Given the description of an element on the screen output the (x, y) to click on. 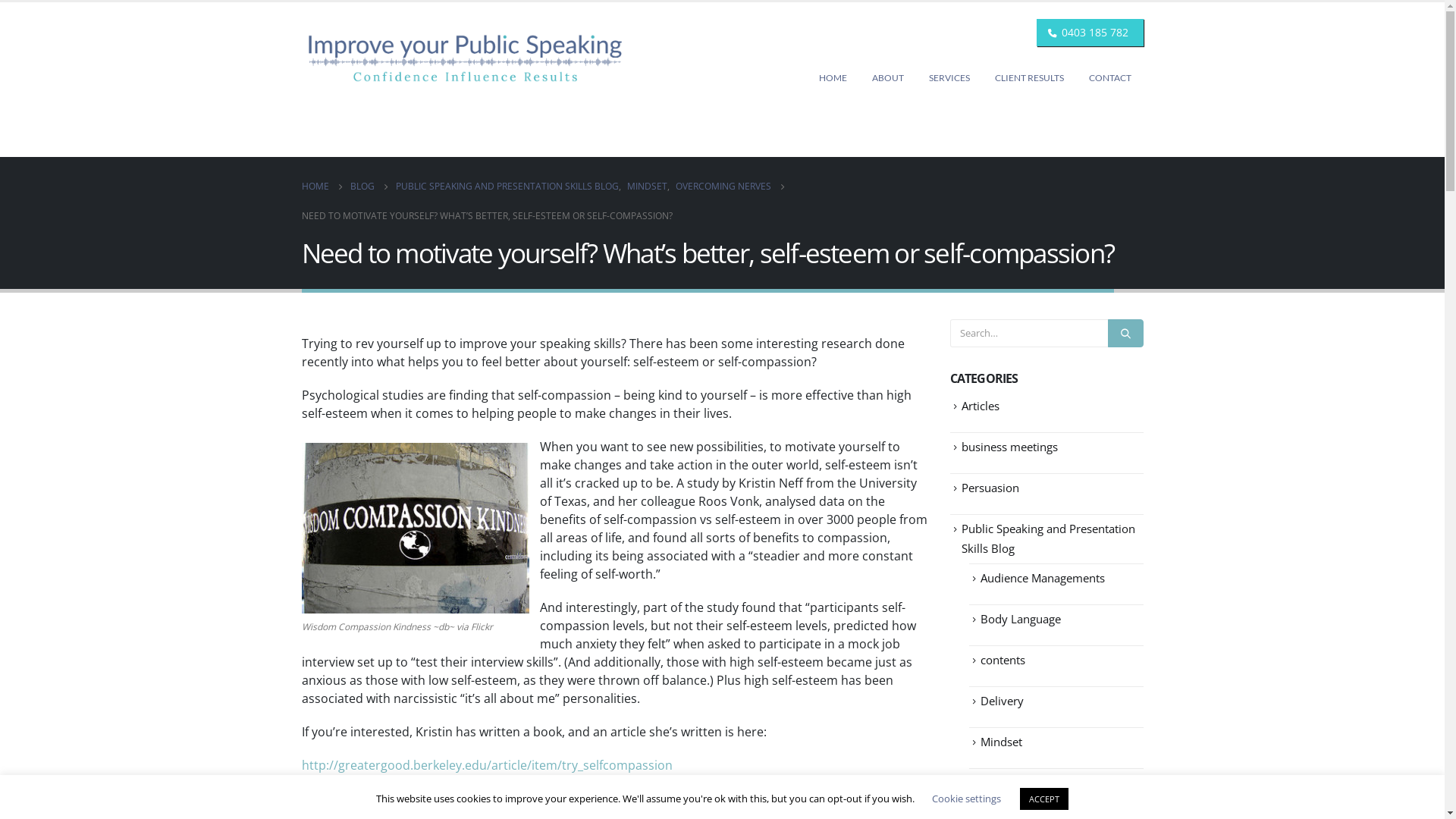
HOME Element type: text (832, 77)
SERVICES Element type: text (948, 77)
CONTACT Element type: text (1109, 77)
Audience Managements Element type: text (1041, 577)
ACCEPT Element type: text (1043, 798)
PUBLIC SPEAKING AND PRESENTATION SKILLS BLOG Element type: text (506, 186)
Delivery Element type: text (1000, 700)
BLOG Element type: text (362, 186)
contents Element type: text (1001, 659)
MINDSET Element type: text (646, 186)
OVERCOMING NERVES Element type: text (722, 186)
0403 185 782 Element type: text (1094, 32)
Body Language Element type: text (1019, 618)
ABOUT Element type: text (887, 77)
Overcoming Nerves Element type: text (1031, 782)
Articles Element type: text (980, 405)
Public Speaking and Presentation Skills Blog Element type: text (1048, 537)
Mindset Element type: text (1000, 741)
Self-compassion motivates you when speaking in public Element type: hover (415, 527)
Cookie settings Element type: text (966, 798)
CLIENT RESULTS Element type: text (1029, 77)
Persuasion Element type: text (990, 487)
HOME Element type: text (315, 186)
business meetings Element type: text (1009, 446)
